Given the description of an element on the screen output the (x, y) to click on. 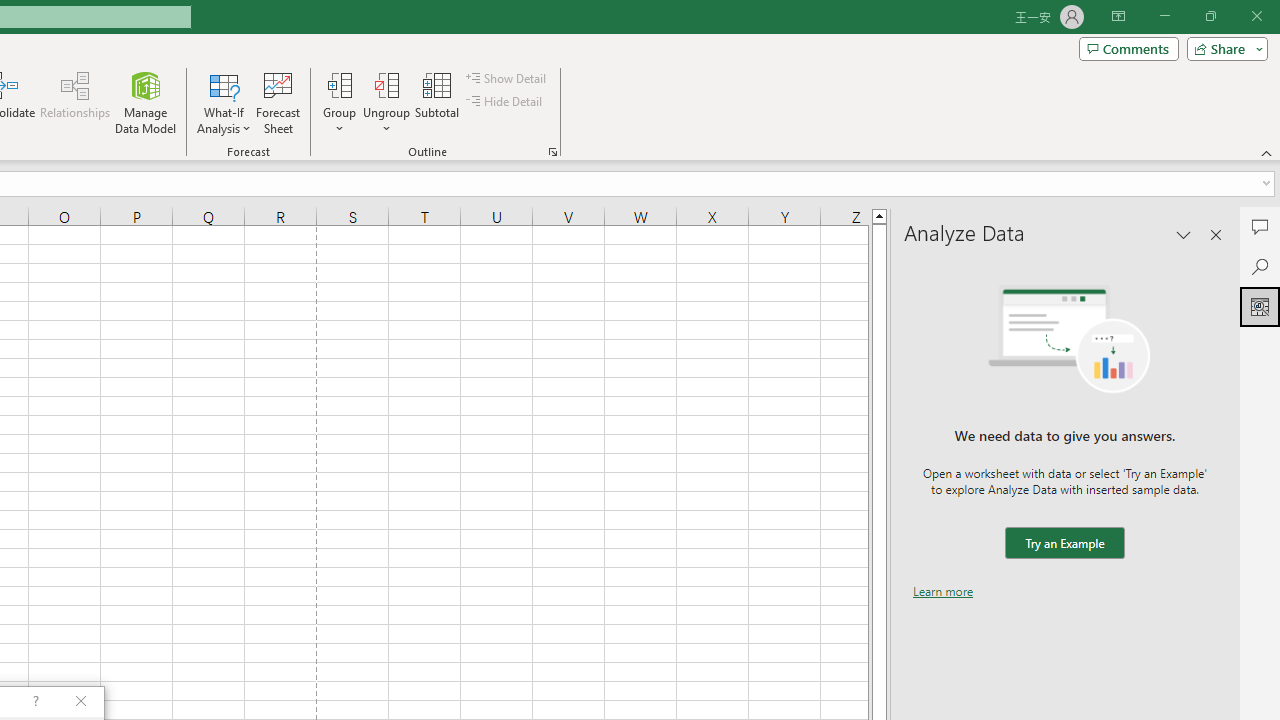
Manage Data Model (145, 102)
Relationships (75, 102)
Forecast Sheet (278, 102)
What-If Analysis (223, 102)
Subtotal (437, 102)
Close pane (1215, 234)
Search (1260, 266)
